Given the description of an element on the screen output the (x, y) to click on. 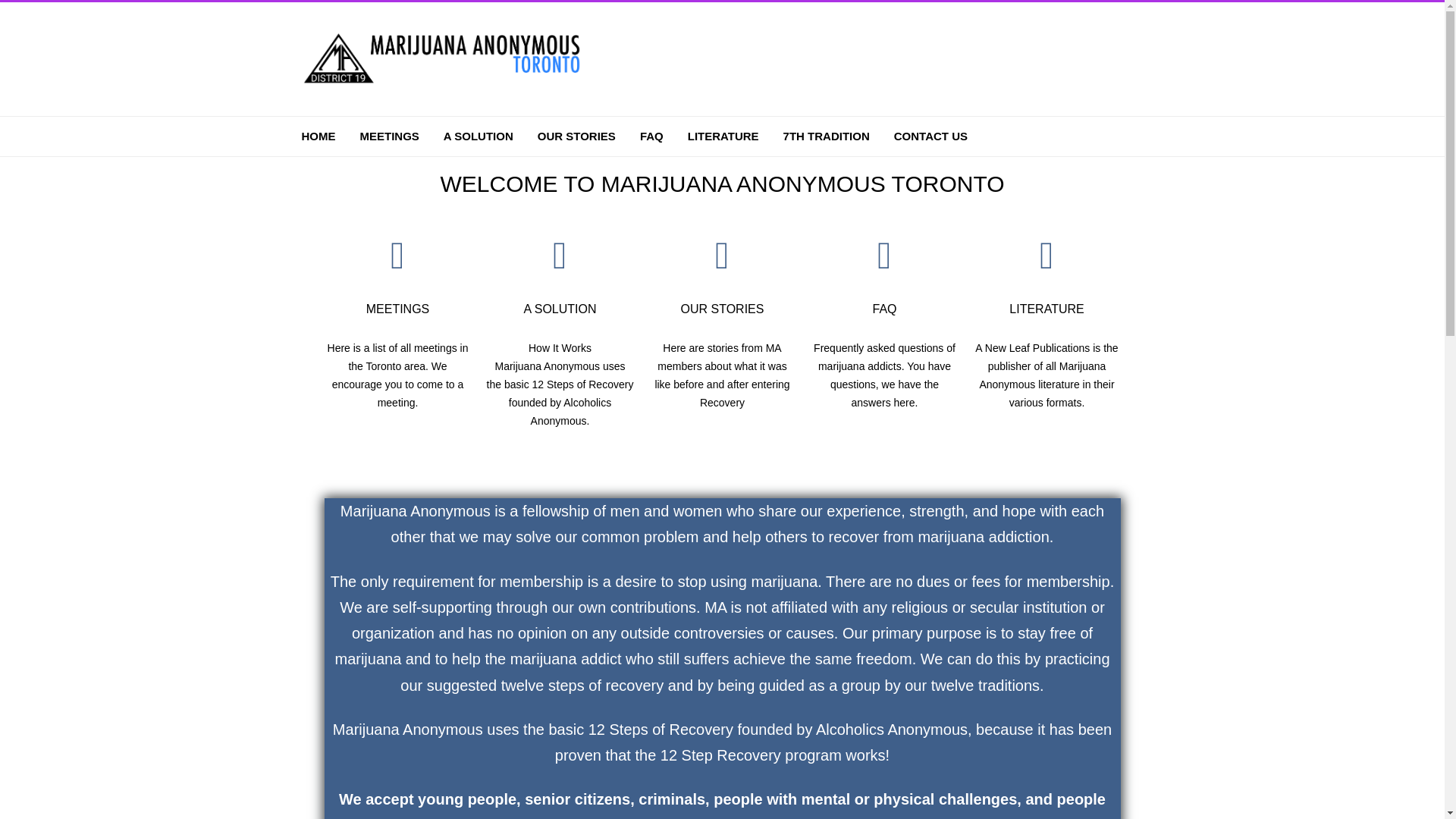
MA Toronto (446, 92)
A SOLUTION (558, 308)
LITERATURE (1046, 308)
CONTACT US (930, 136)
OUR STORIES (576, 136)
FAQ (651, 136)
FAQ (884, 308)
7TH TRADITION (825, 136)
MEETINGS (389, 136)
HOME (317, 136)
